Given the description of an element on the screen output the (x, y) to click on. 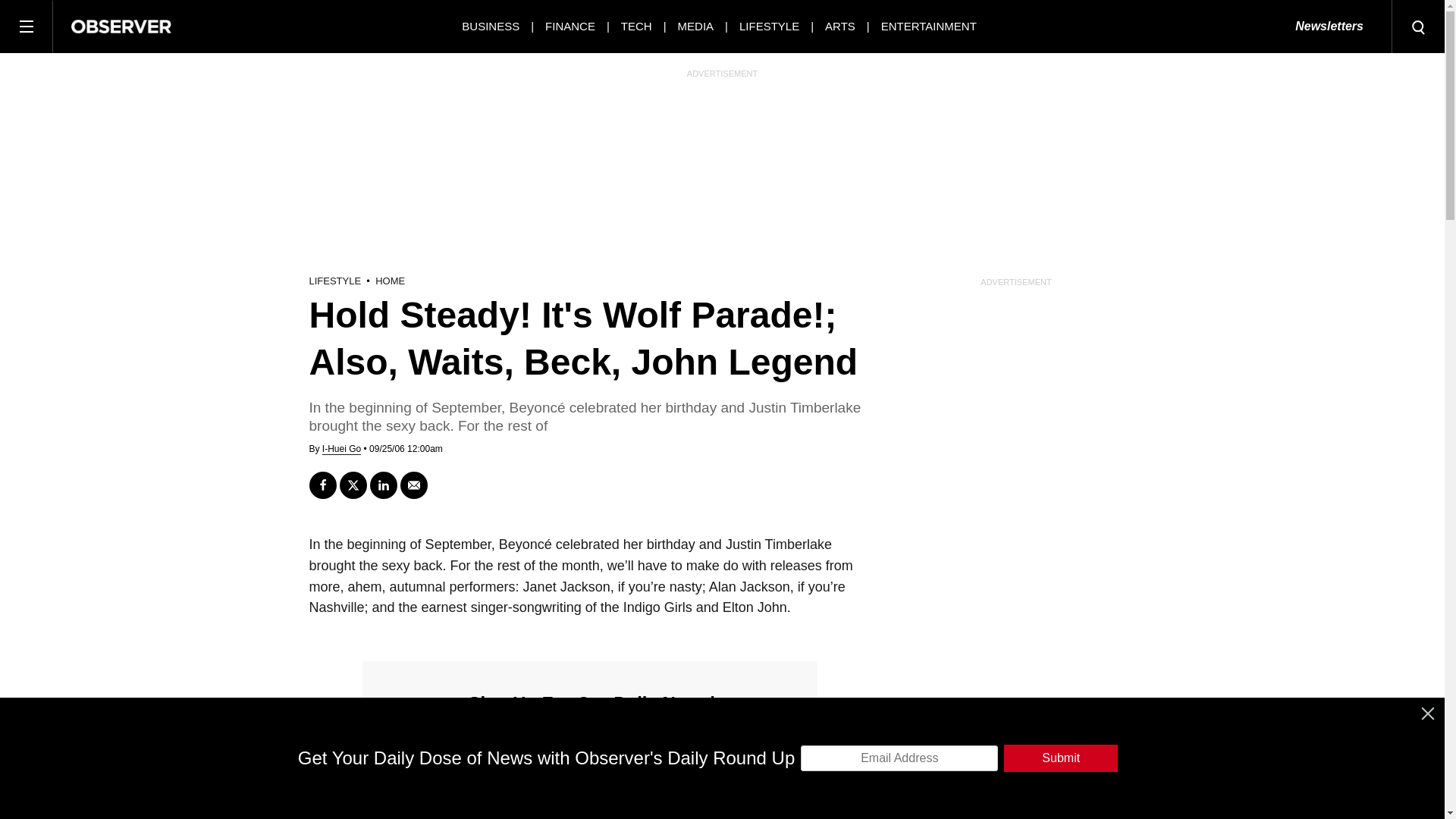
View All Posts by I-Huei Go (341, 449)
Tweet (352, 484)
MEDIA (696, 25)
3rd party ad content (721, 785)
Send email (414, 484)
Share on Facebook (322, 484)
FINANCE (569, 25)
BUSINESS (490, 25)
ENTERTAINMENT (928, 25)
LIFESTYLE (769, 25)
Newsletters (1329, 26)
Observer (121, 26)
TECH (636, 25)
Share on LinkedIn (383, 484)
ARTS (840, 25)
